Given the description of an element on the screen output the (x, y) to click on. 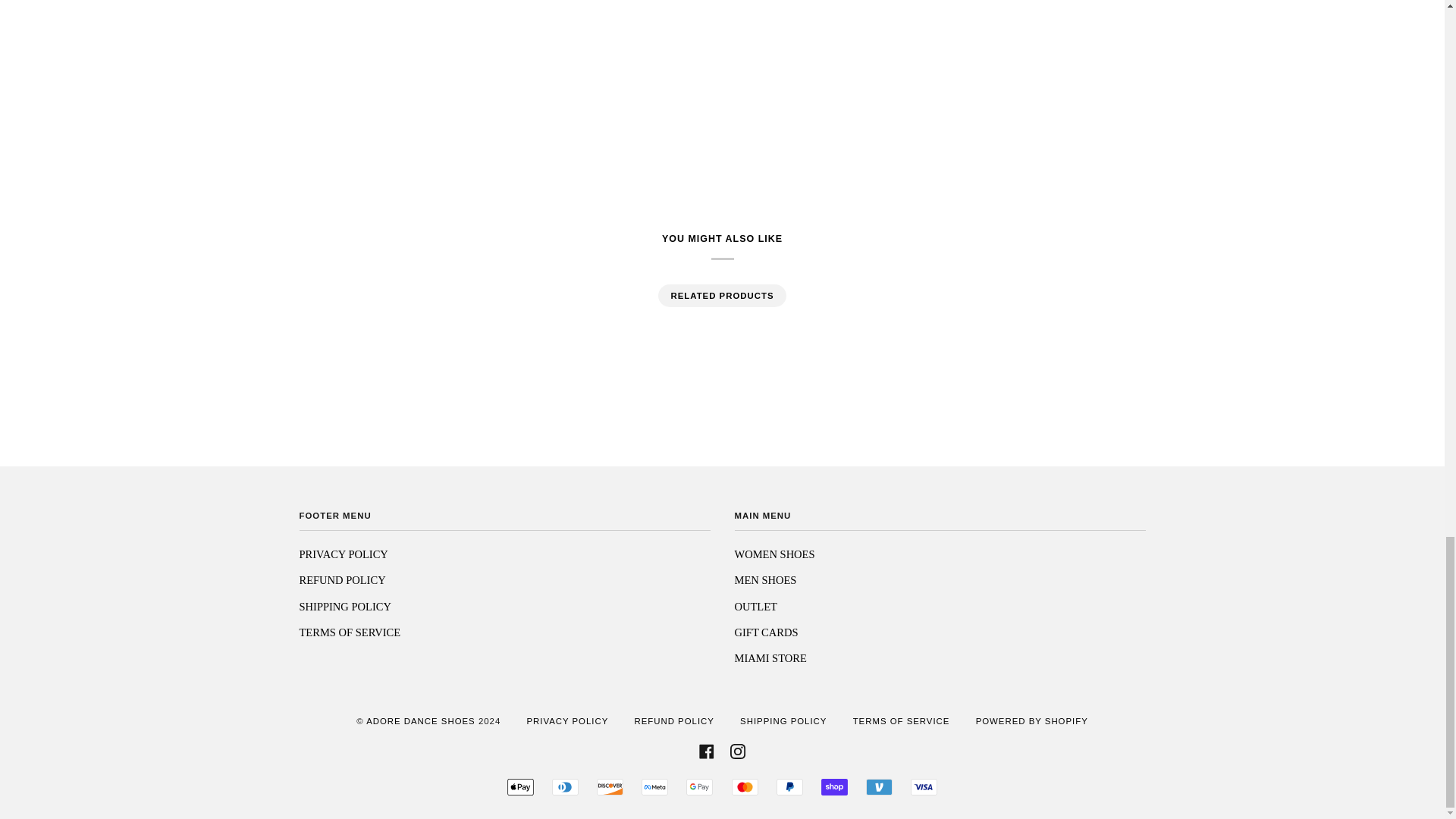
GOOGLE PAY (699, 786)
VENMO (879, 786)
Facebook (706, 751)
SHOP PAY (834, 786)
APPLE PAY (520, 786)
DISCOVER (609, 786)
RELATED PRODUCTS (721, 295)
META PAY (655, 786)
VISA (924, 786)
PAYPAL (789, 786)
